Given the description of an element on the screen output the (x, y) to click on. 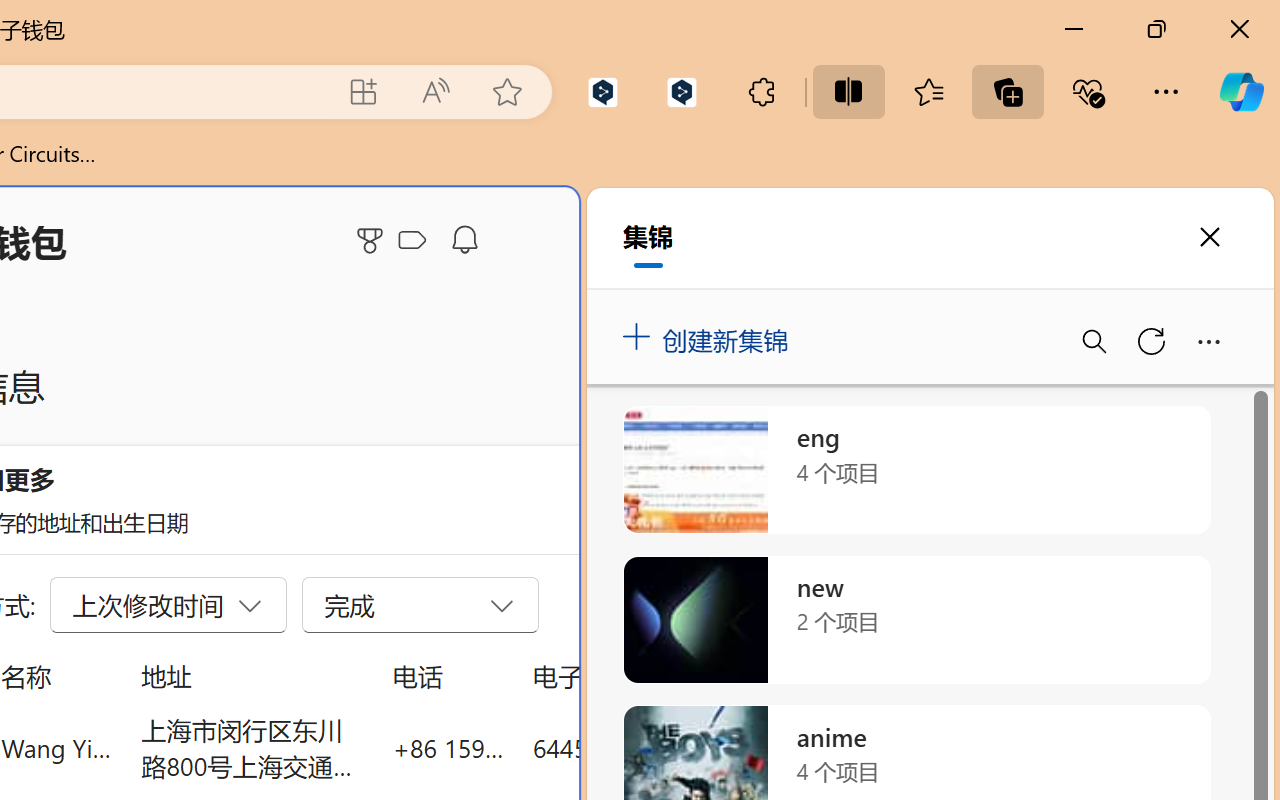
Copilot (Ctrl+Shift+.) (1241, 91)
Class: ___1lmltc5 f1agt3bx f12qytpq (411, 241)
Microsoft Cashback (415, 241)
Microsoft Rewards (373, 240)
+86 159 0032 4640 (447, 747)
644553698@qq.com (644, 747)
